Given the description of an element on the screen output the (x, y) to click on. 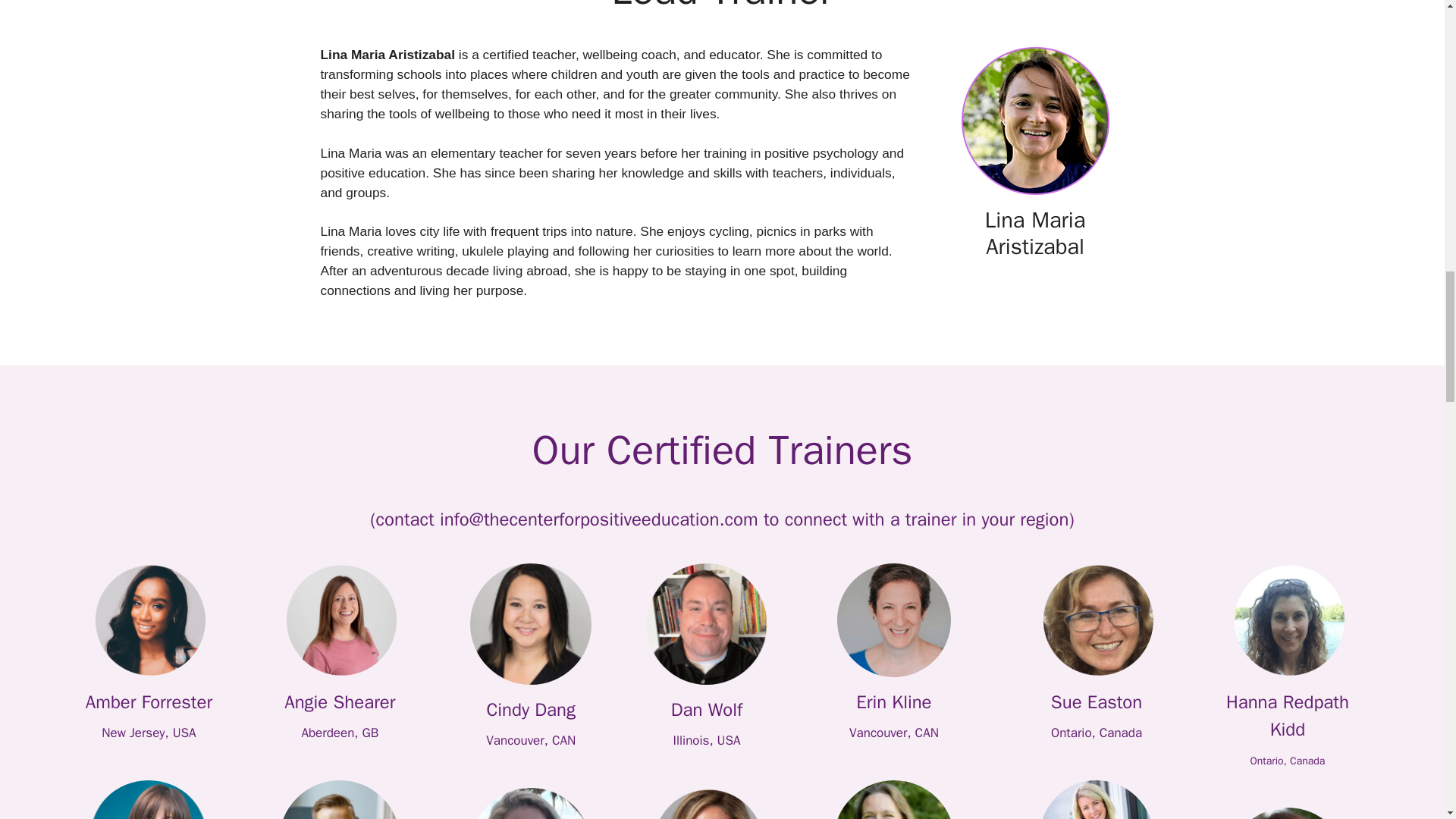
image1 (530, 623)
Jodi pic (148, 799)
LinaMaria (1034, 120)
Angie (339, 620)
AMber (148, 620)
